Given the description of an element on the screen output the (x, y) to click on. 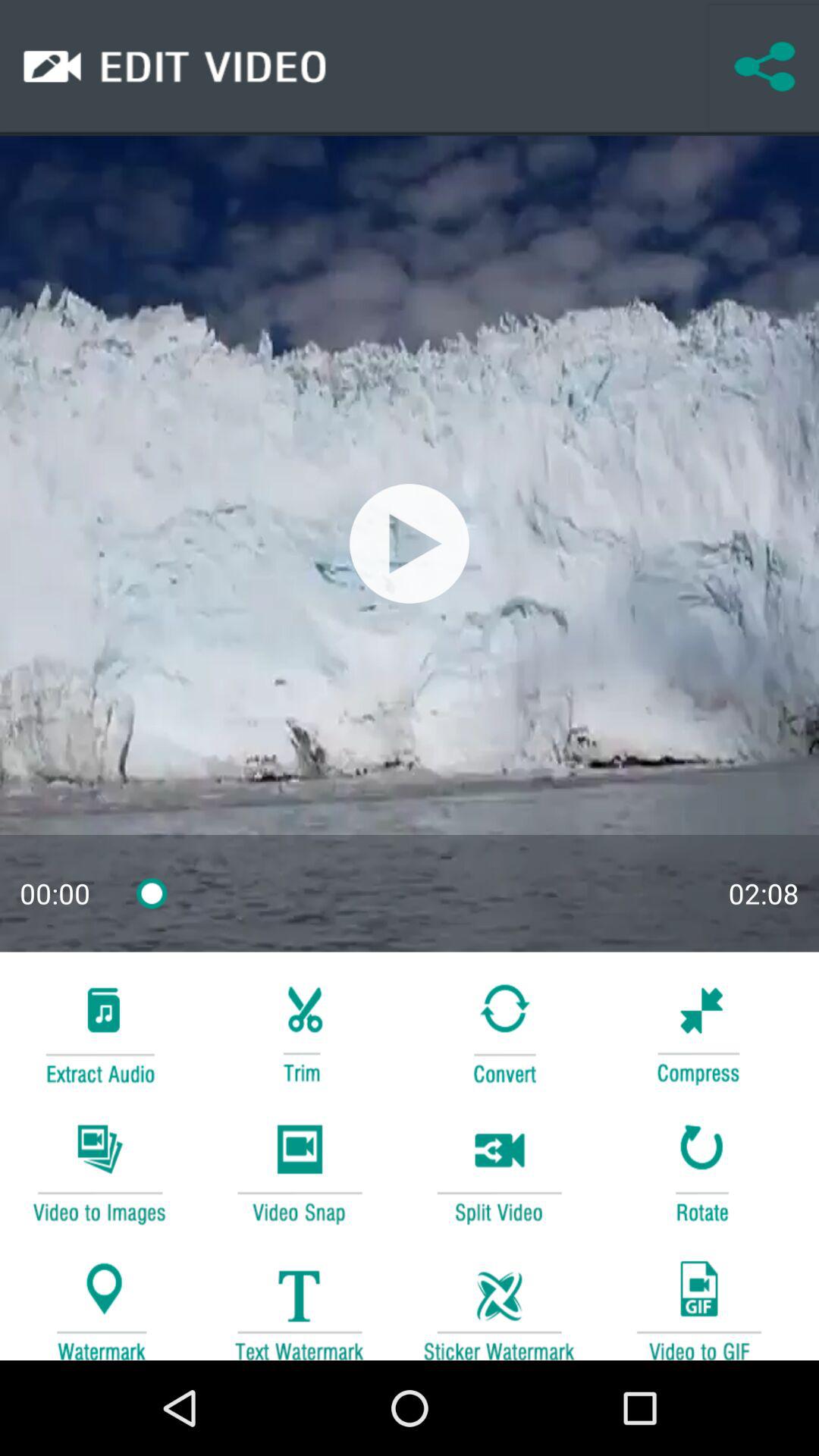
split video (498, 1171)
